Given the description of an element on the screen output the (x, y) to click on. 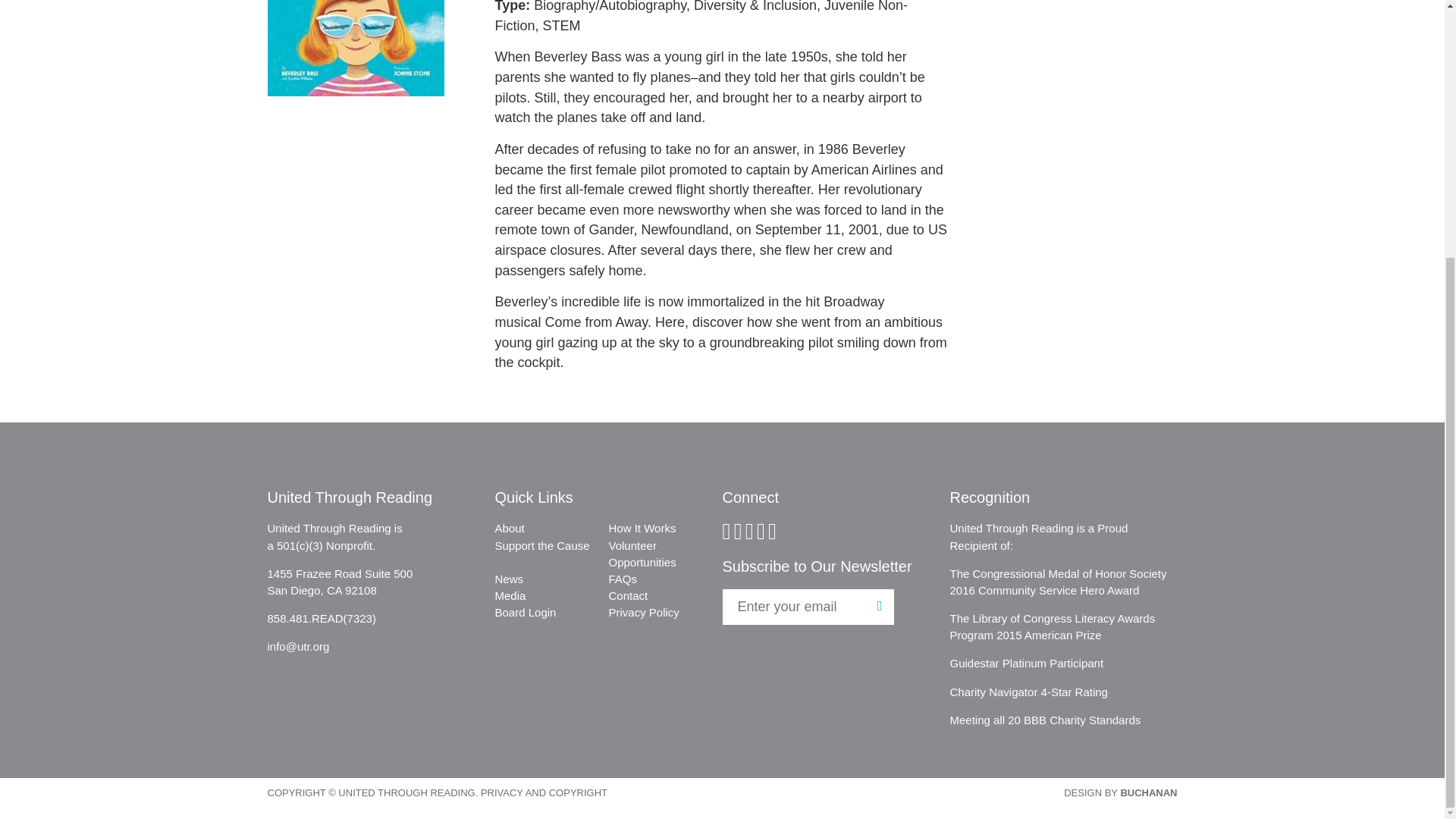
About (509, 527)
How It Works (641, 527)
